Given the description of an element on the screen output the (x, y) to click on. 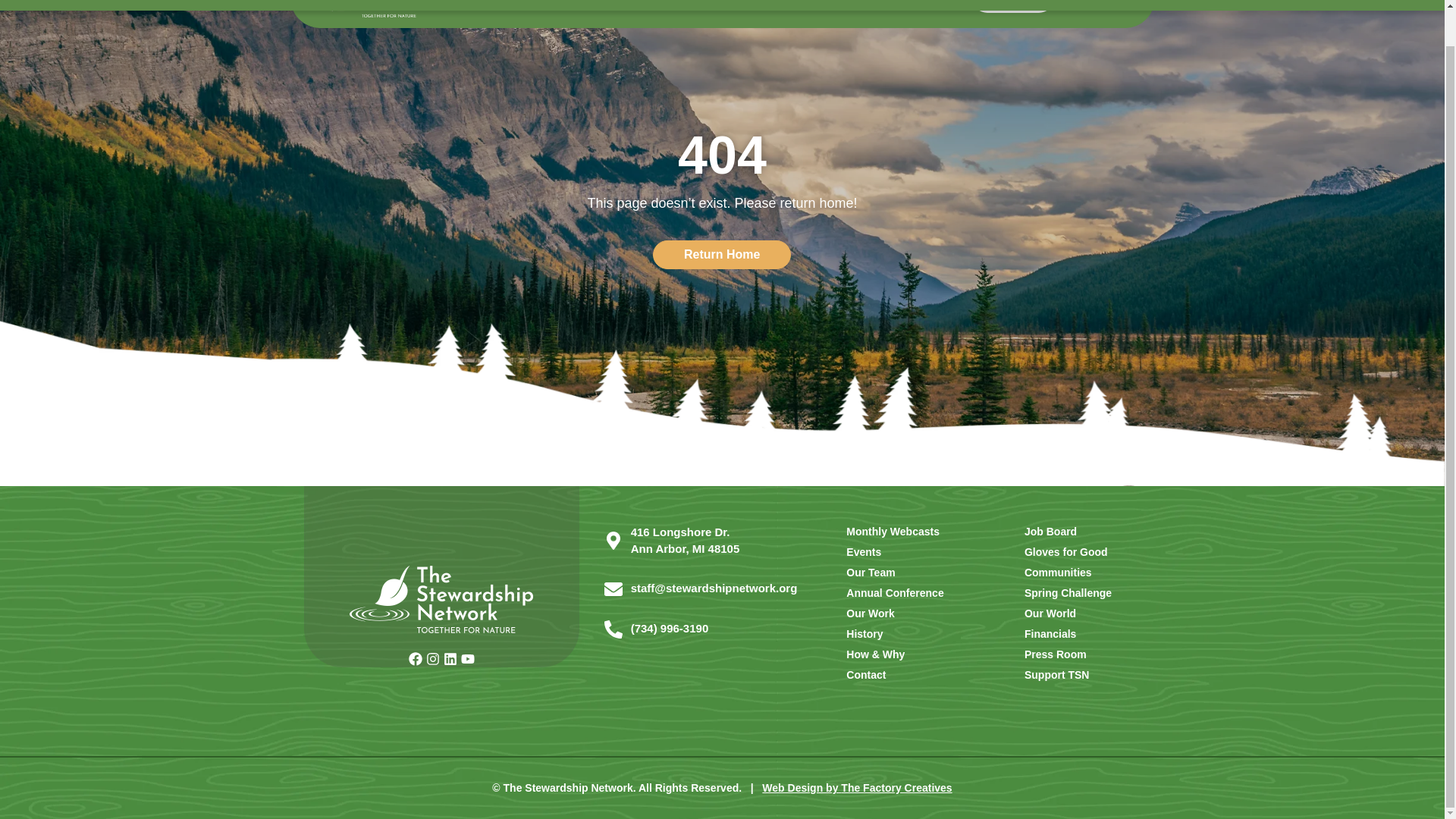
Pittsburgh Web Design (856, 787)
